Given the description of an element on the screen output the (x, y) to click on. 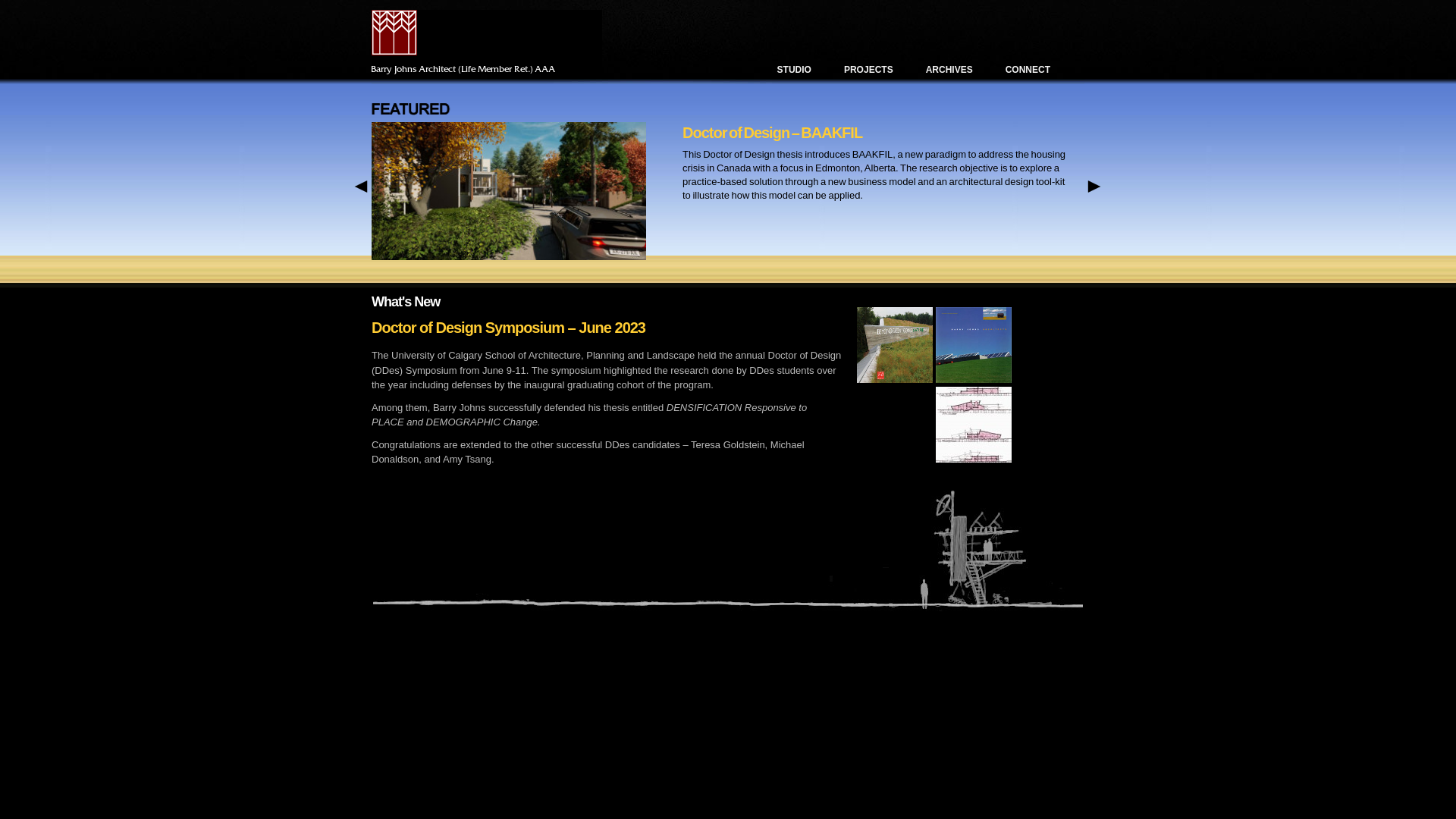
Permanent Link to INFILLHAUS Element type: hover (234, 256)
CONNECT Element type: text (1027, 69)
PROJECTS Element type: text (868, 69)
ARCHIVES Element type: text (949, 69)
STUDIO Element type: text (794, 69)
